Given the description of an element on the screen output the (x, y) to click on. 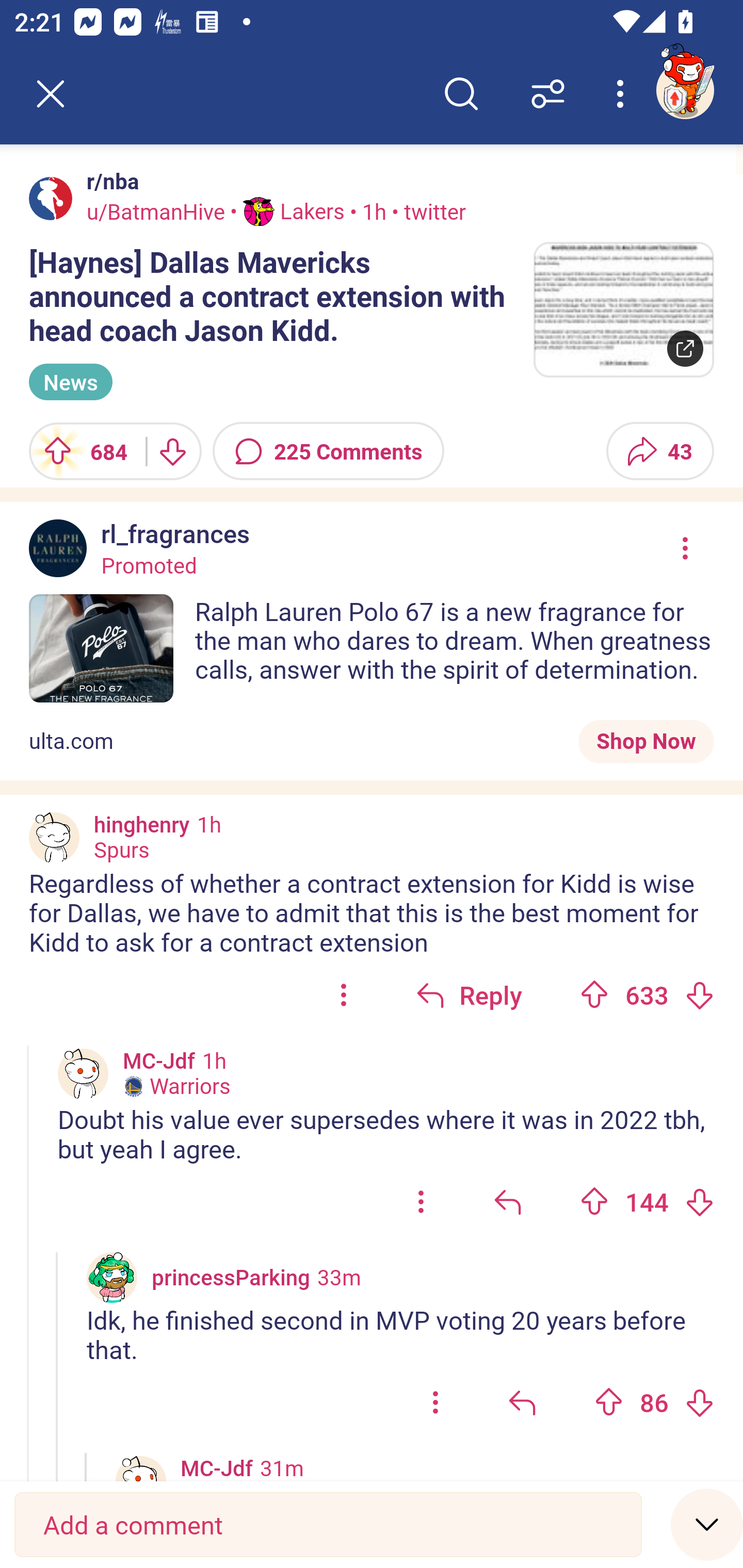
Back (50, 93)
TestAppium002 account (685, 90)
Search comments (460, 93)
Sort comments (547, 93)
More options (623, 93)
r/nba (109, 181)
Avatar (50, 198)
u/BatmanHive (155, 210)
 • twitter (425, 210)
Thumbnail image (623, 309)
News (70, 381)
Upvote 684 (79, 450)
Downvote (171, 450)
225 Comments (328, 450)
Share 43 (660, 450)
1h (208, 823)
Custom avatar (53, 837)
Spurs (121, 849)
options (343, 995)
Reply (469, 995)
Upvote 633 633 votes Downvote (647, 995)
Upvote (594, 994)
Downvote (699, 994)
1h (214, 1060)
Custom avatar (82, 1073)
￼ Warriors (176, 1086)
options (420, 1201)
Upvote 144 144 votes Downvote (647, 1201)
Upvote (594, 1201)
Downvote (699, 1201)
Custom avatar (111, 1277)
33m (339, 1277)
options (435, 1401)
Upvote 86 86 votes Downvote (654, 1401)
Upvote (608, 1402)
Downvote (699, 1402)
31m (281, 1467)
Speed read (706, 1524)
Add a comment (327, 1524)
